Given the description of an element on the screen output the (x, y) to click on. 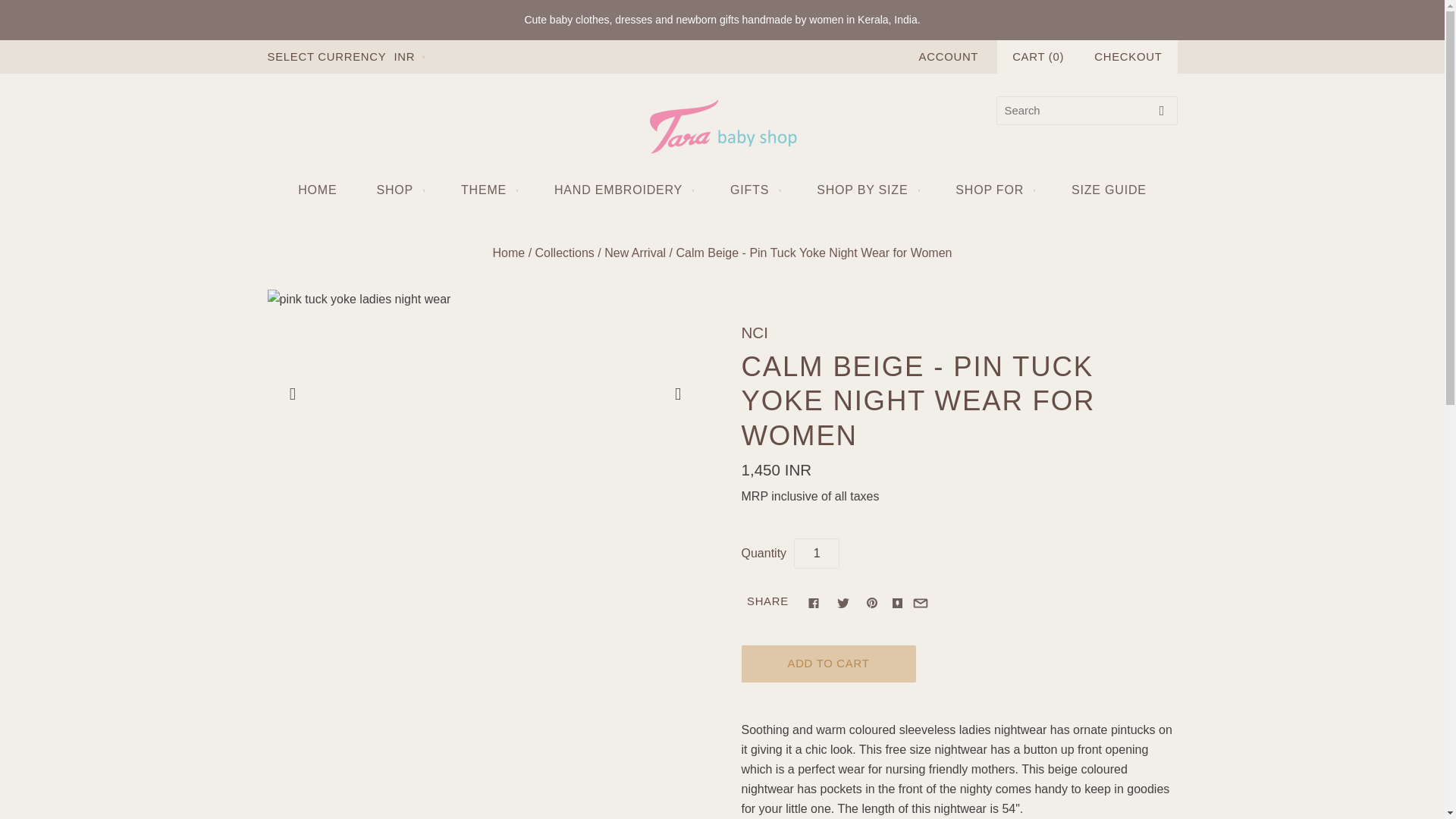
Add to cart (828, 663)
SHOP (398, 190)
CHECKOUT (1127, 56)
HAND EMBROIDERY (622, 190)
GIFTS (753, 190)
HOME (317, 190)
THEME (487, 190)
ACCOUNT (948, 56)
1 (816, 553)
